Given the description of an element on the screen output the (x, y) to click on. 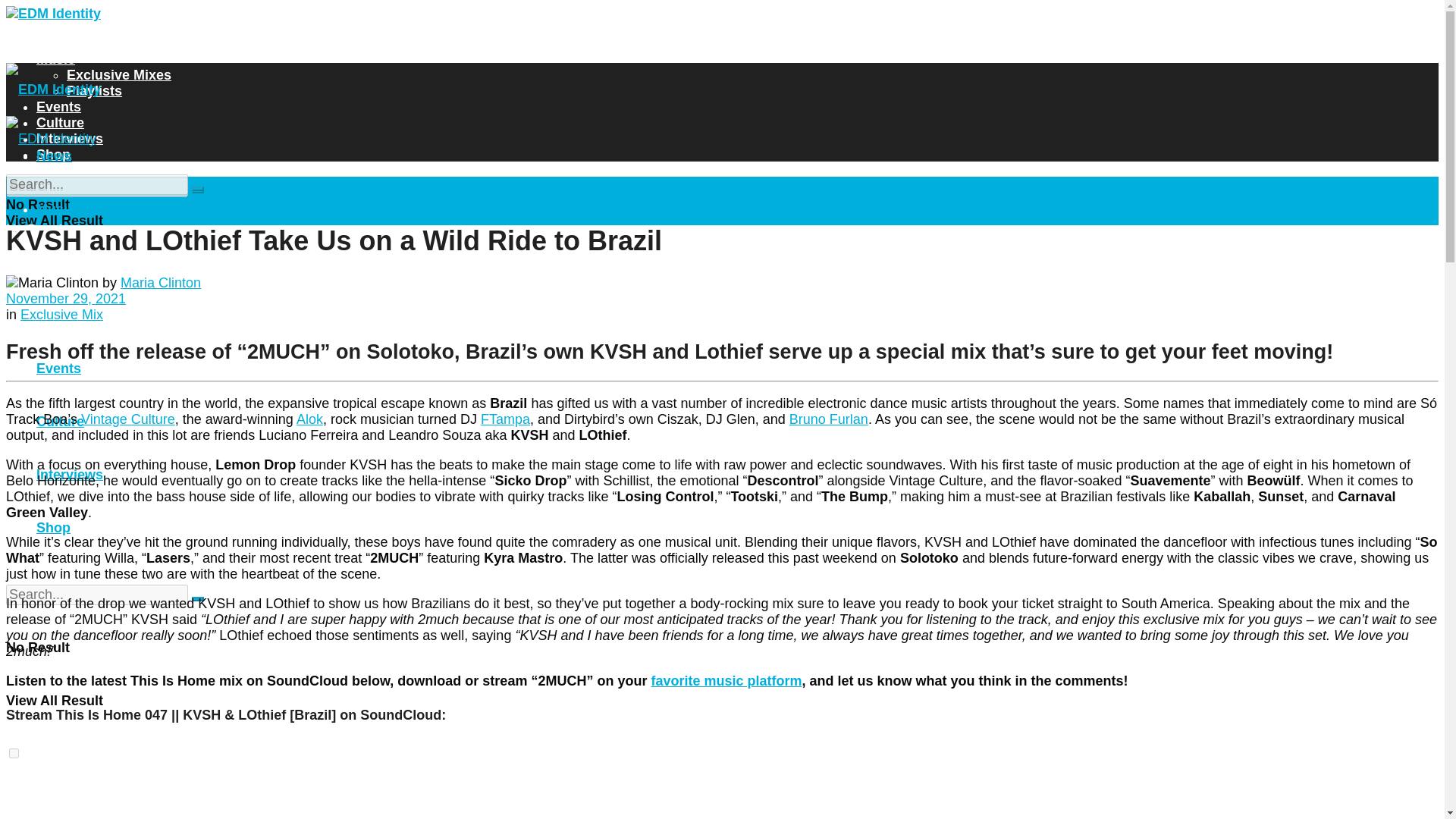
November 29, 2021 (65, 298)
on (13, 753)
Alok (310, 418)
Exclusive Mixes (118, 74)
Culture (60, 122)
Music (55, 58)
Playlists (94, 90)
Interviews (69, 138)
favorite music platform (726, 680)
Shop (52, 154)
